Given the description of an element on the screen output the (x, y) to click on. 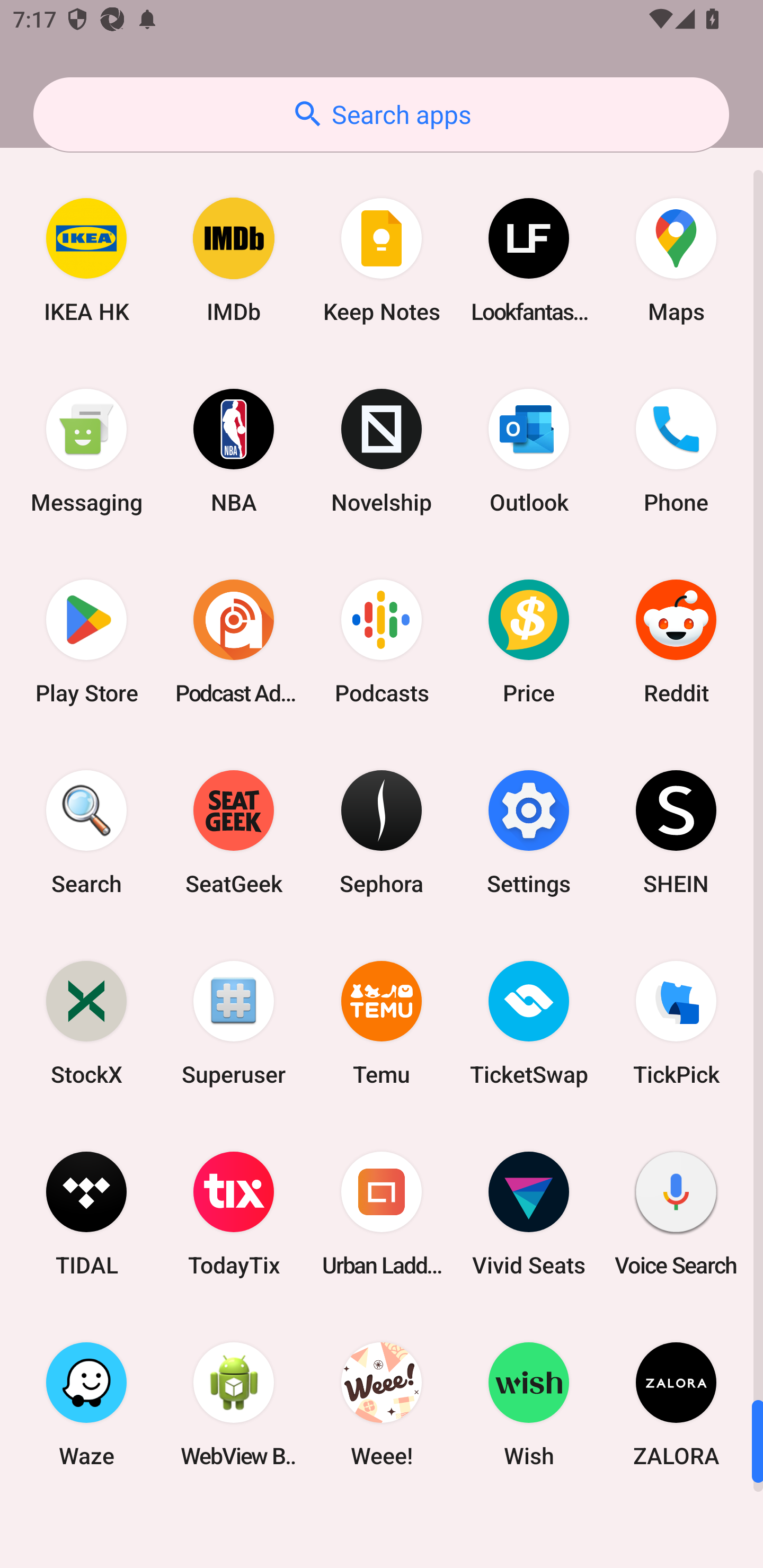
  Search apps (381, 114)
IKEA HK (86, 259)
IMDb (233, 259)
Keep Notes (381, 259)
Lookfantastic (528, 259)
Maps (676, 259)
Messaging (86, 450)
NBA (233, 450)
Novelship (381, 450)
Outlook (528, 450)
Phone (676, 450)
Play Store (86, 640)
Podcast Addict (233, 640)
Podcasts (381, 640)
Price (528, 640)
Reddit (676, 640)
Search (86, 832)
SeatGeek (233, 832)
Sephora (381, 832)
Settings (528, 832)
SHEIN (676, 832)
StockX (86, 1022)
Superuser (233, 1022)
Temu (381, 1022)
TicketSwap (528, 1022)
TickPick (676, 1022)
TIDAL (86, 1213)
TodayTix (233, 1213)
Urban Ladder (381, 1213)
Vivid Seats (528, 1213)
Voice Search (676, 1213)
Waze (86, 1404)
WebView Browser Tester (233, 1404)
Weee! (381, 1404)
Wish (528, 1404)
ZALORA (676, 1404)
